Given the description of an element on the screen output the (x, y) to click on. 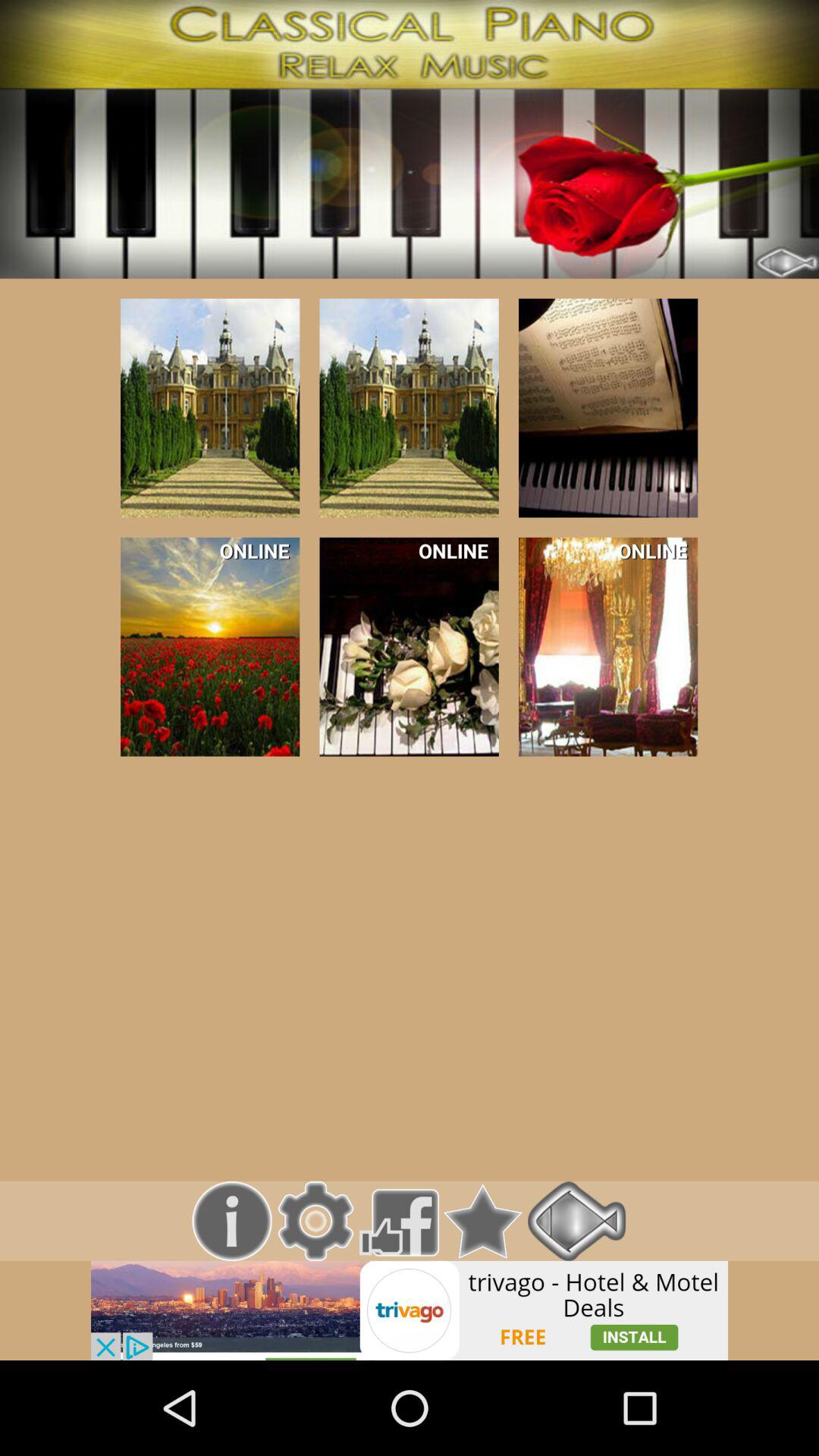
facebook (399, 1220)
